Given the description of an element on the screen output the (x, y) to click on. 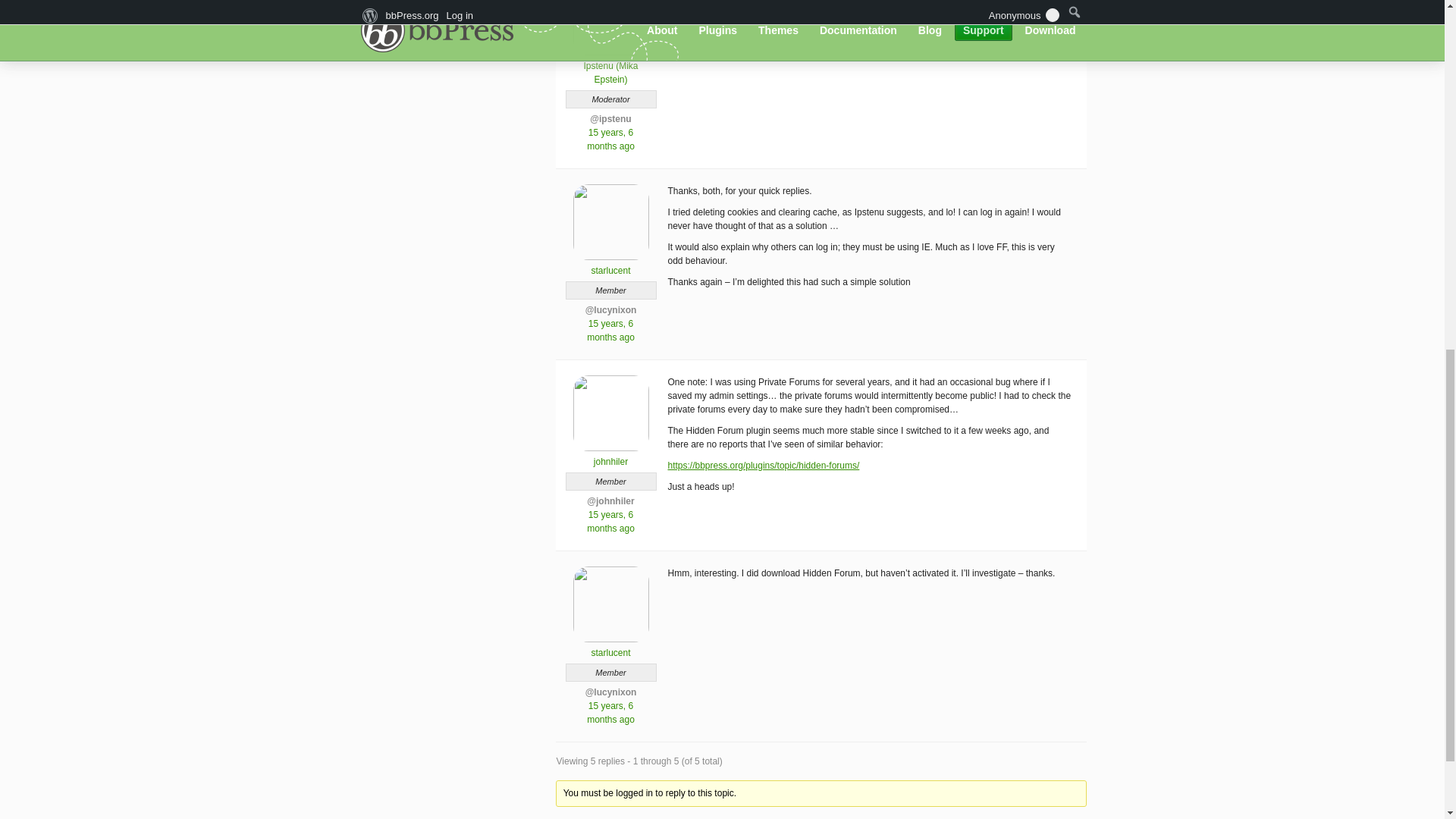
15 years, 6 months ago (610, 139)
starlucent (609, 646)
15 years, 6 months ago (610, 521)
15 years, 6 months ago (610, 712)
15 years, 6 months ago (610, 330)
johnhiler (609, 455)
starlucent (609, 264)
